Given the description of an element on the screen output the (x, y) to click on. 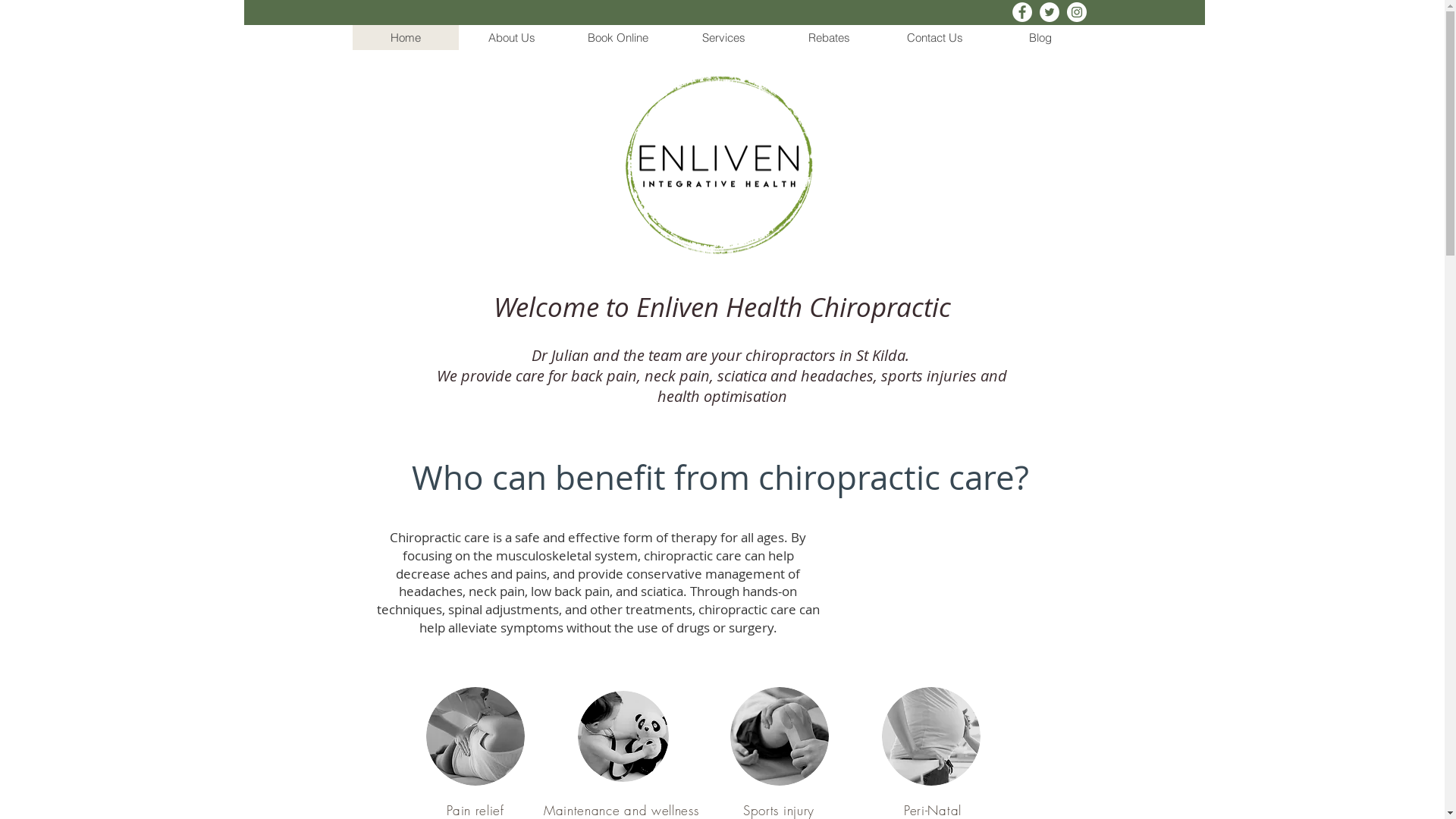
Home Element type: text (404, 37)
Blog Element type: text (1039, 37)
About Us Element type: text (511, 37)
Book Online Element type: text (617, 37)
Contact Us Element type: text (933, 37)
